Given the description of an element on the screen output the (x, y) to click on. 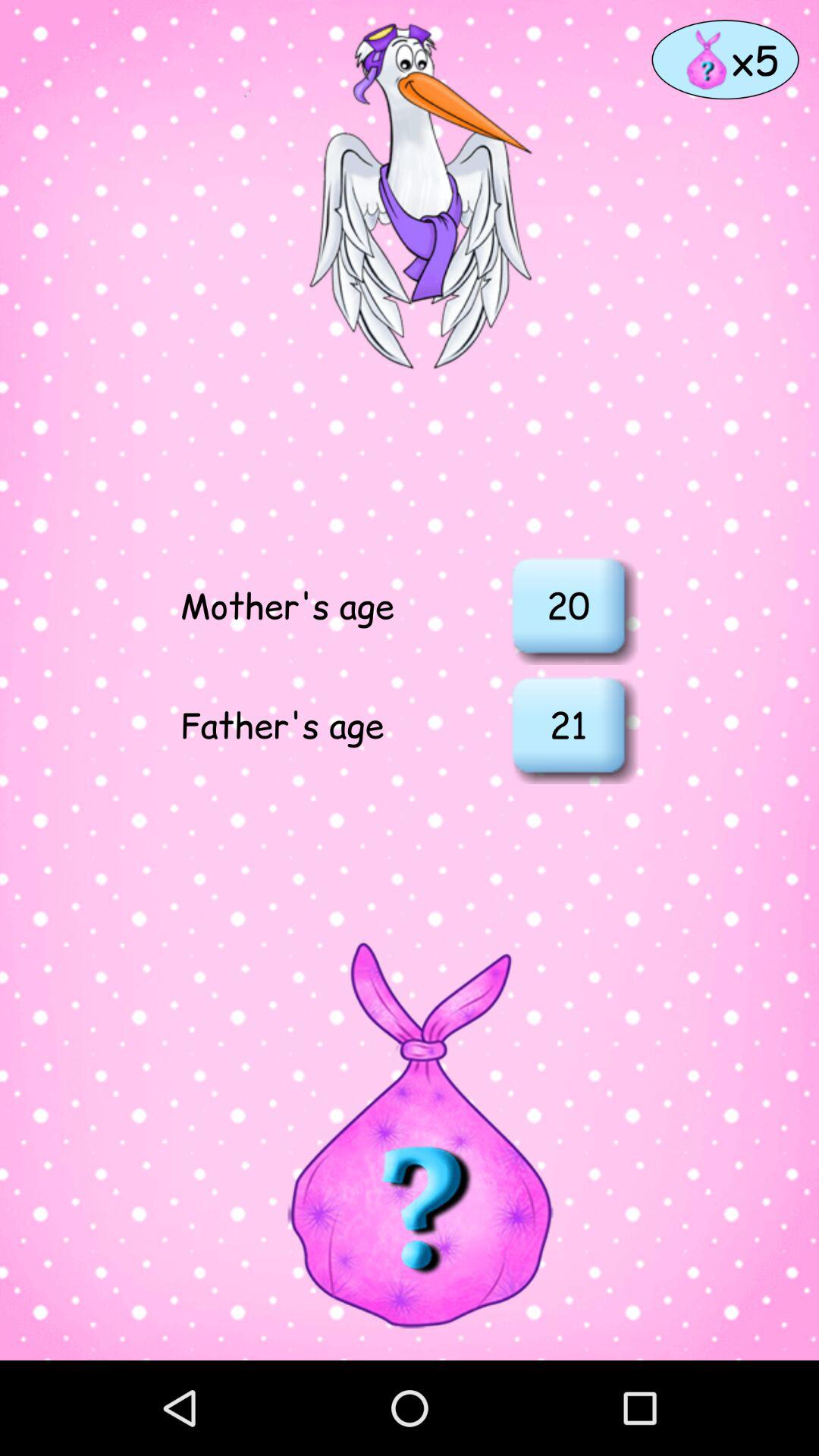
turn off the item below the 21 icon (409, 1133)
